Given the description of an element on the screen output the (x, y) to click on. 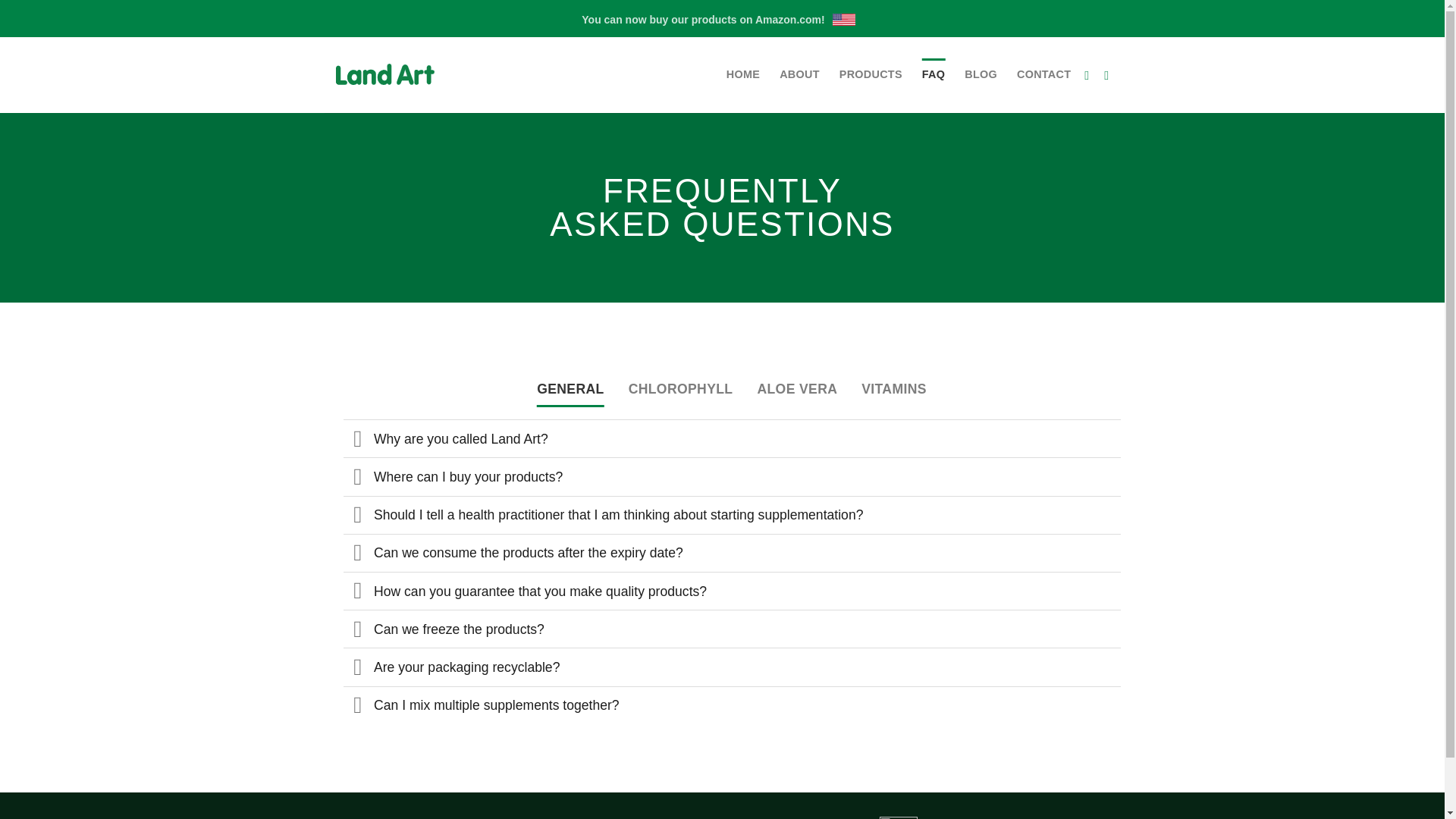
CONTACT (1043, 74)
ALOE VERA (797, 389)
Follow on Facebook (1090, 74)
Are your packaging recyclable? (730, 666)
VITAMINS (893, 389)
HOME (743, 74)
CHLOROPHYLL (680, 389)
Land Art (400, 74)
ABOUT (798, 74)
BLOG (980, 74)
Can we freeze the products? (730, 628)
You can now buy our products on Amazon.com! (720, 19)
PRODUCTS (871, 74)
Where can I buy your products? (730, 476)
